Given the description of an element on the screen output the (x, y) to click on. 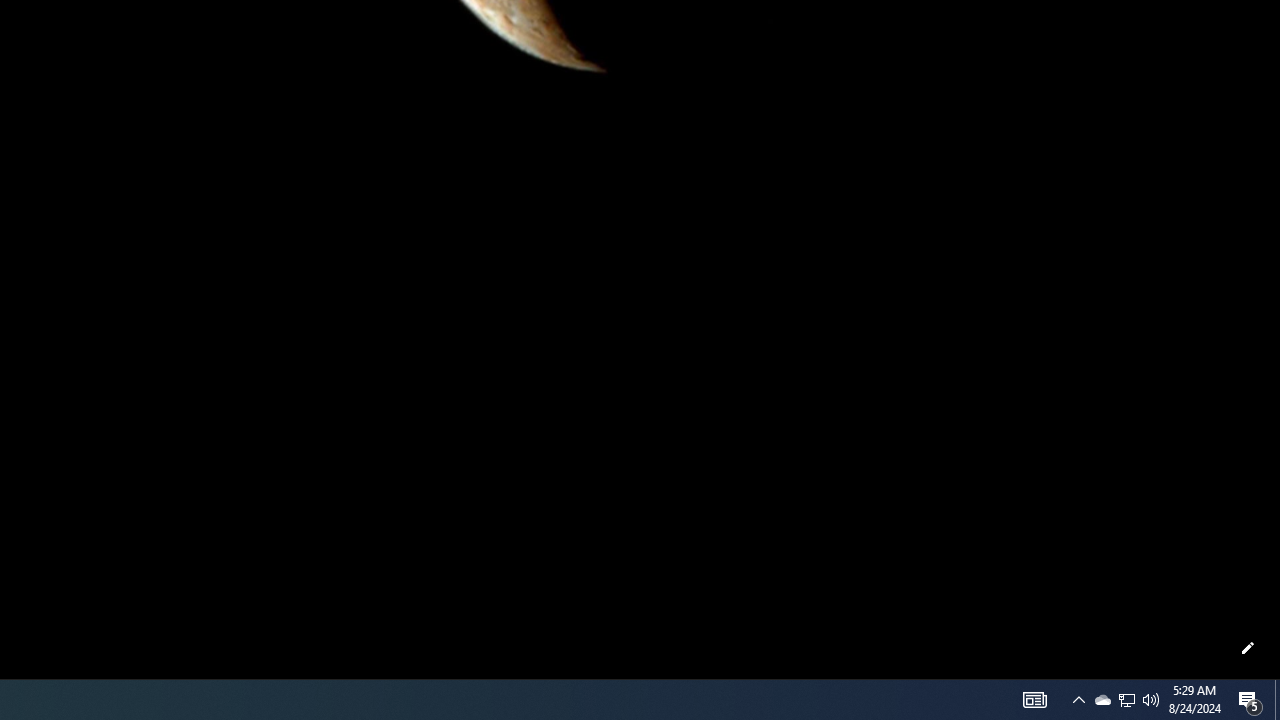
Customize this page (1247, 647)
